Given the description of an element on the screen output the (x, y) to click on. 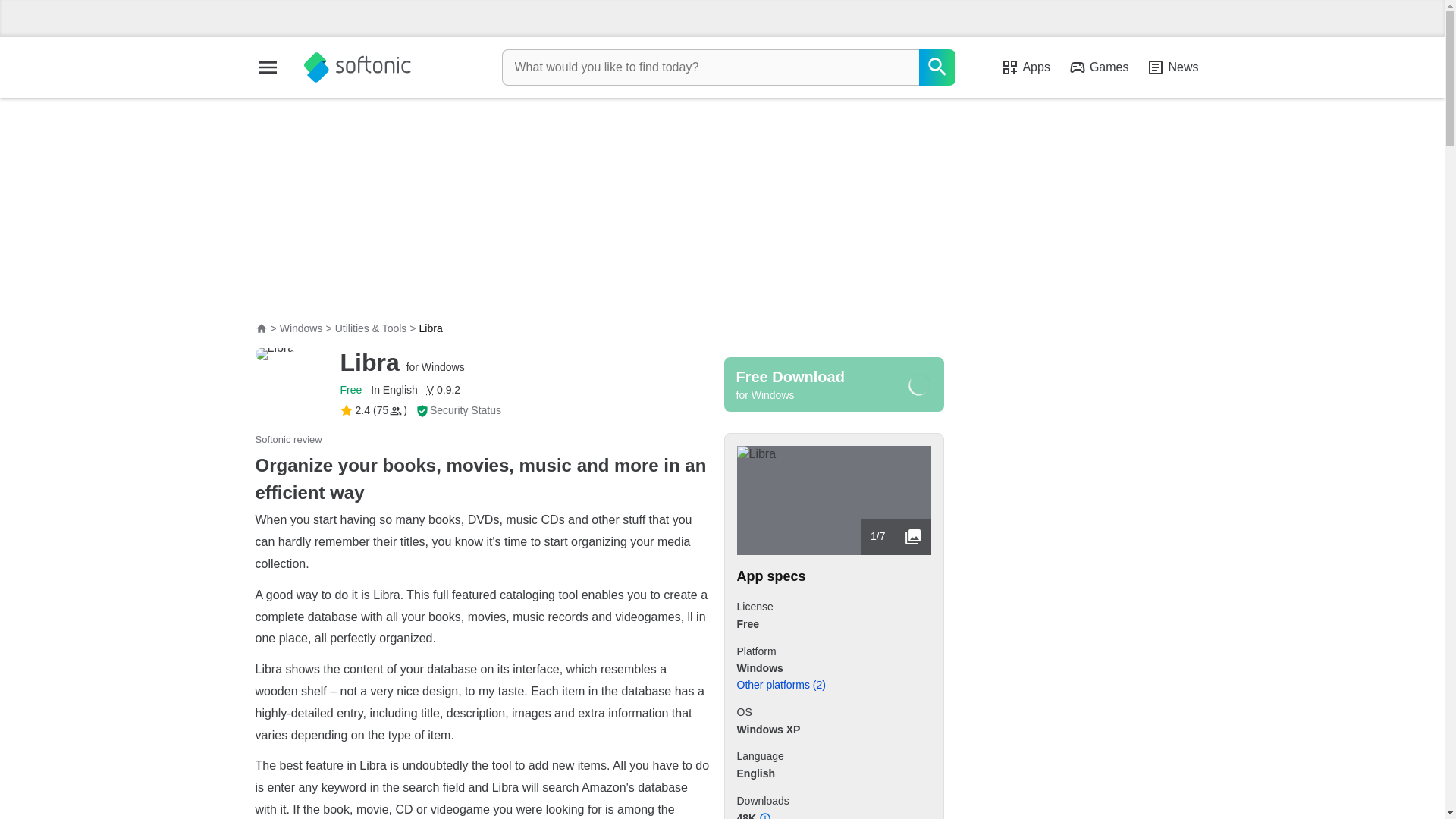
Windows (301, 328)
Softonic (356, 67)
